Given the description of an element on the screen output the (x, y) to click on. 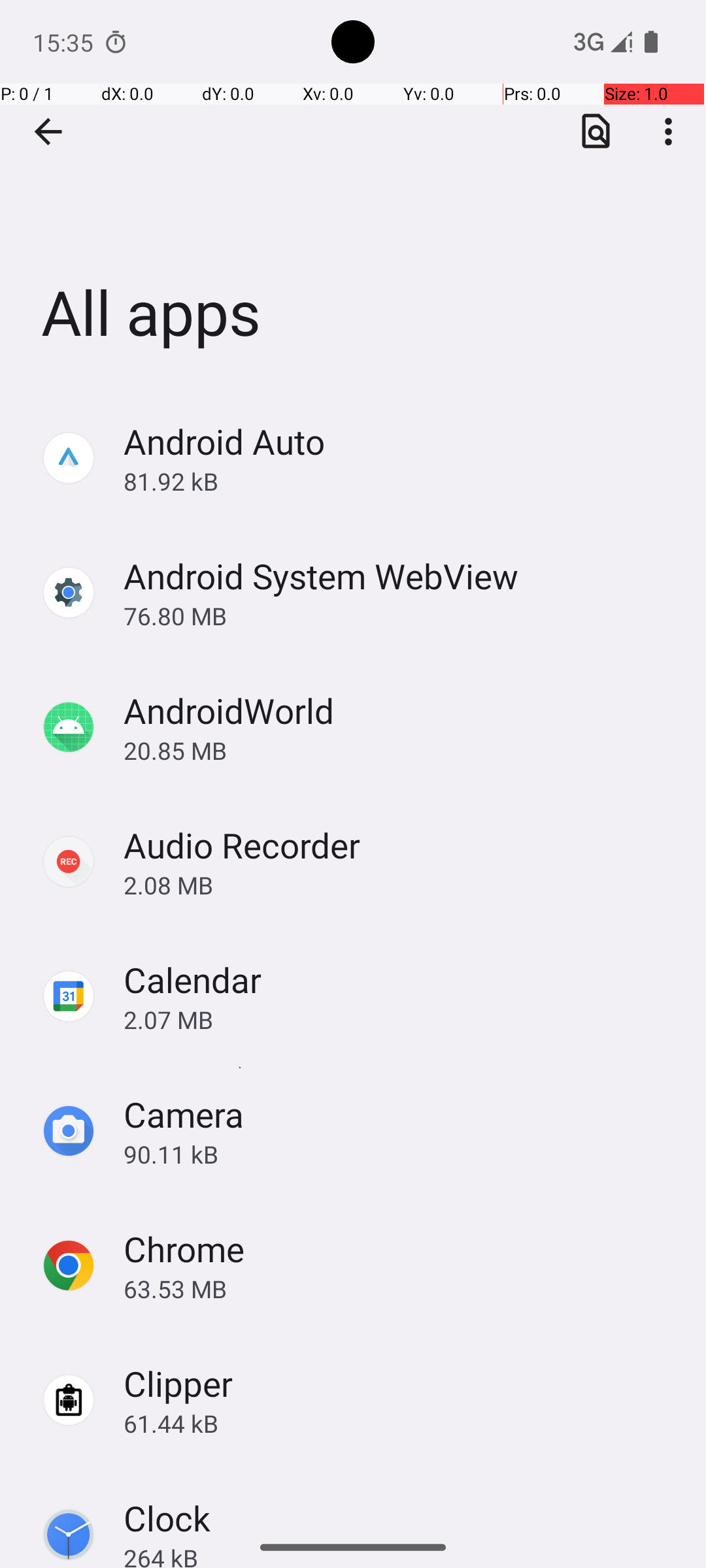
All apps Element type: android.widget.FrameLayout (353, 195)
81.92 kB Element type: android.widget.TextView (400, 480)
76.80 MB Element type: android.widget.TextView (400, 615)
20.85 MB Element type: android.widget.TextView (400, 750)
2.08 MB Element type: android.widget.TextView (400, 884)
2.07 MB Element type: android.widget.TextView (400, 1019)
90.11 kB Element type: android.widget.TextView (400, 1153)
63.53 MB Element type: android.widget.TextView (400, 1288)
61.44 kB Element type: android.widget.TextView (400, 1422)
